Given the description of an element on the screen output the (x, y) to click on. 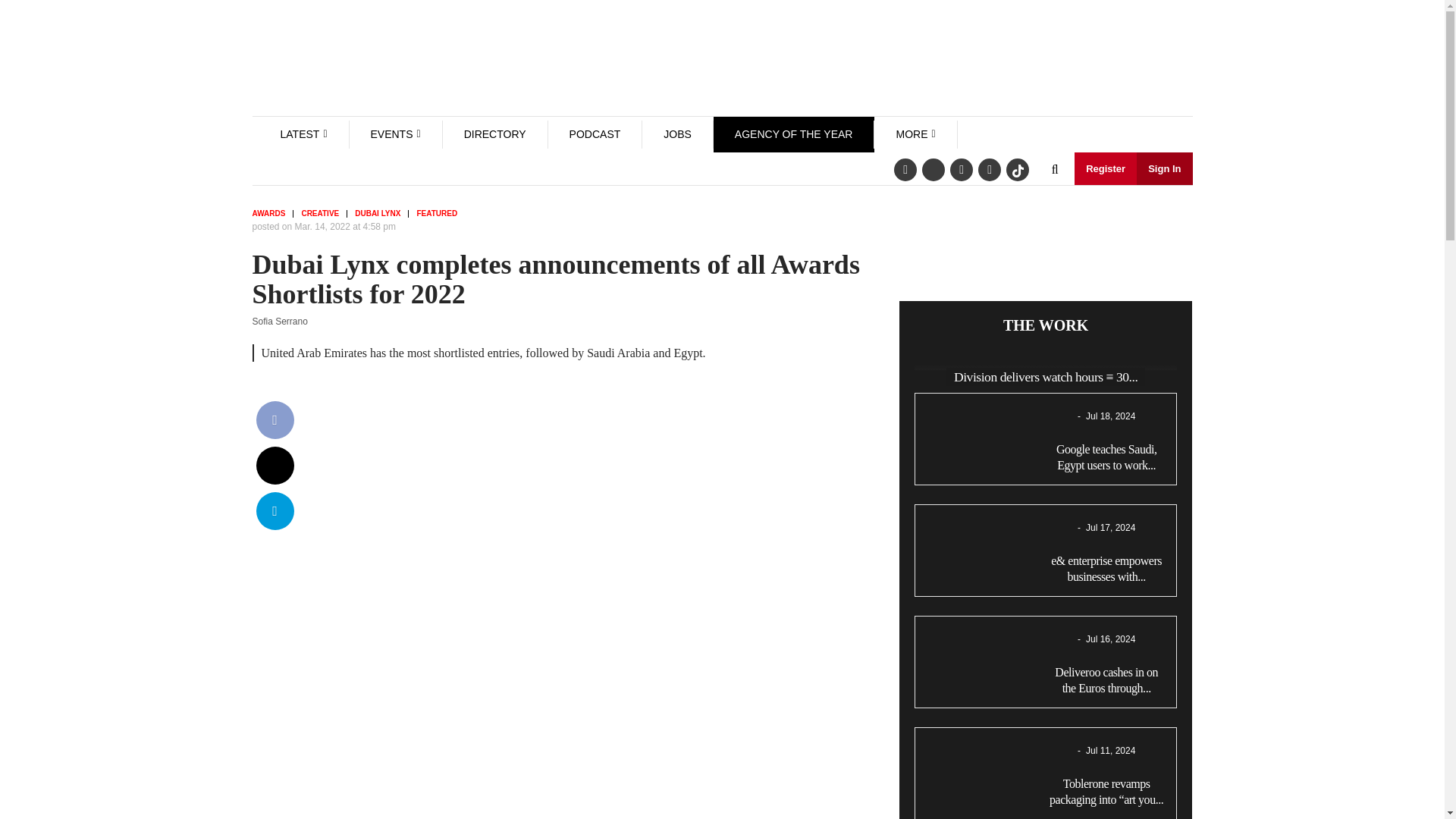
Featured (440, 213)
Creative (324, 213)
LATEST (300, 134)
Dubai Lynx (382, 213)
search (1054, 169)
Awards (272, 213)
